Given the description of an element on the screen output the (x, y) to click on. 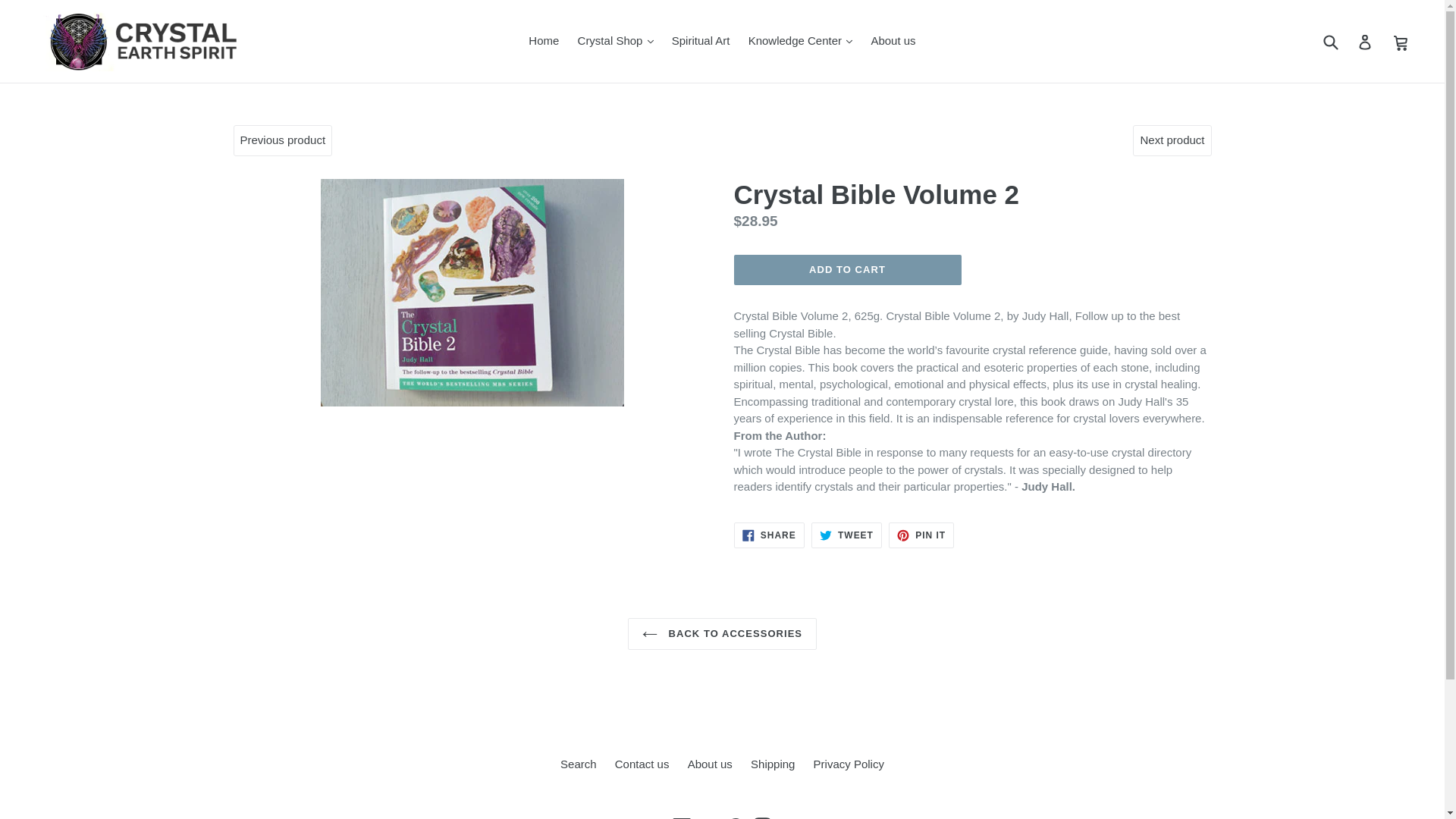
Crystal Earth Spirit on Instagram (762, 818)
Share on Facebook (769, 534)
Pewter Hands Crystal Holder B (1172, 139)
Pin on Pinterest (920, 534)
Sterling Silver Pendant Crystal Holder Square (282, 139)
Crystal Earth Spirit on Pinterest (735, 818)
Tweet on Twitter (846, 534)
Crystal Earth Spirit on Facebook (681, 818)
Crystal Earth Spirit on Twitter (708, 818)
